Given the description of an element on the screen output the (x, y) to click on. 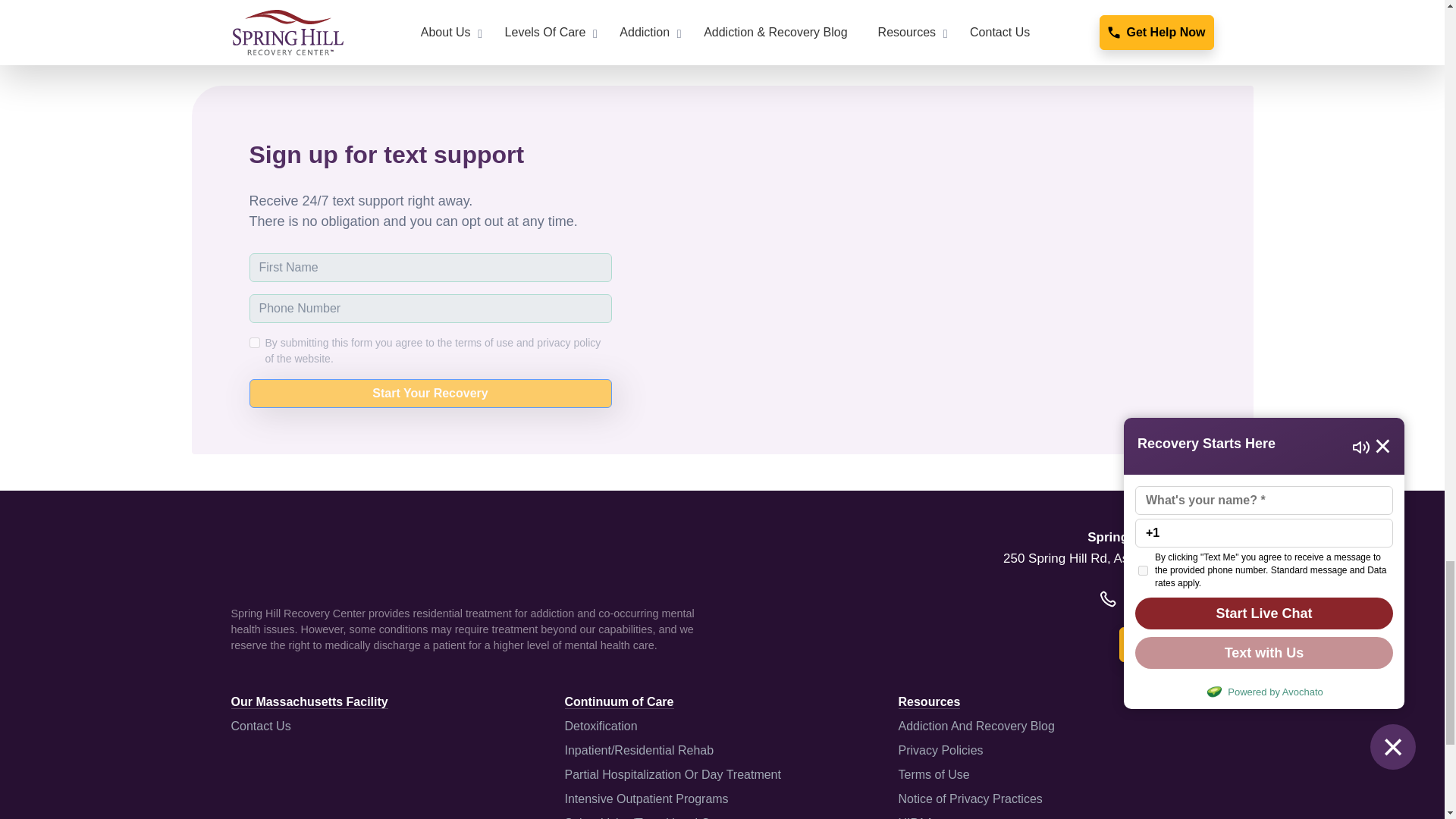
on (253, 342)
